Given the description of an element on the screen output the (x, y) to click on. 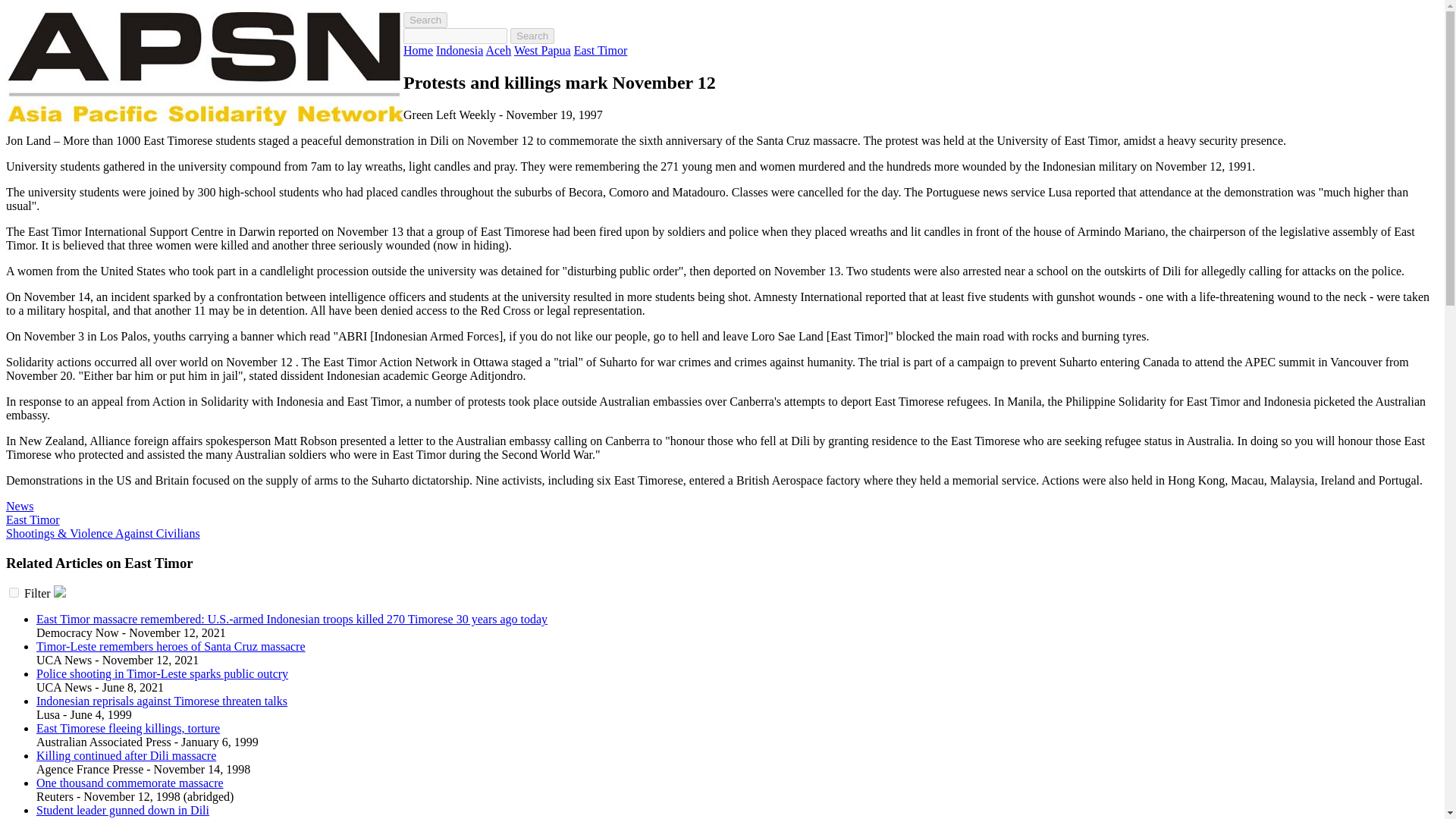
West Papua (541, 50)
East Timor (32, 519)
Timor-Leste remembers heroes of Santa Cruz massacre (170, 645)
Student leader gunned down in Dili (122, 809)
Indonesia (459, 50)
Home (417, 50)
Indonesian reprisals against Timorese threaten talks (161, 700)
East Timorese fleeing killings, torture (127, 727)
Search this site (424, 19)
One thousand commemorate massacre (130, 782)
Enter the terms you wish to search for. (454, 35)
Search (532, 35)
Police shooting in Timor-Leste sparks public outcry (162, 673)
